Given the description of an element on the screen output the (x, y) to click on. 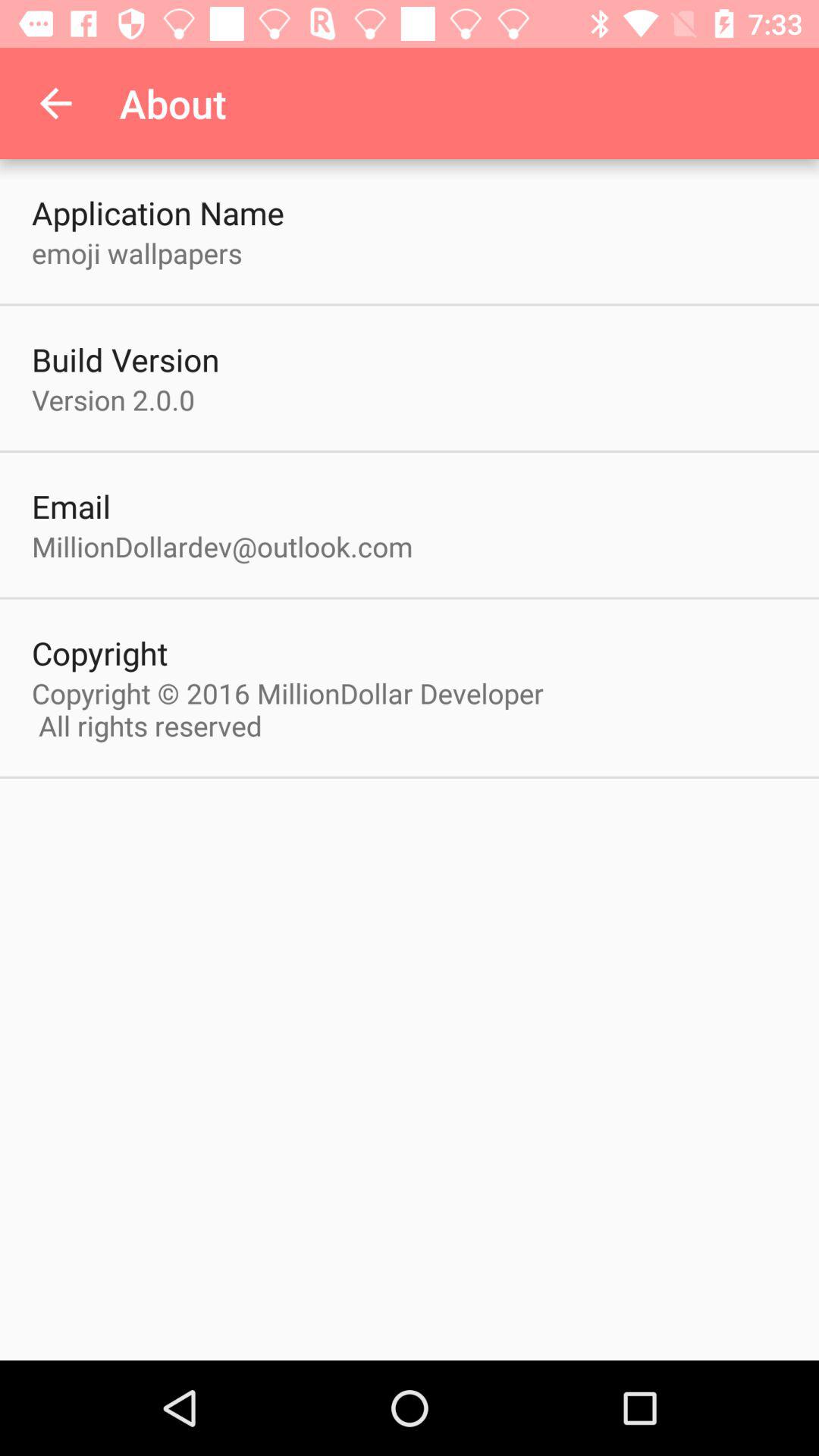
launch icon above the copyright icon (221, 546)
